Given the description of an element on the screen output the (x, y) to click on. 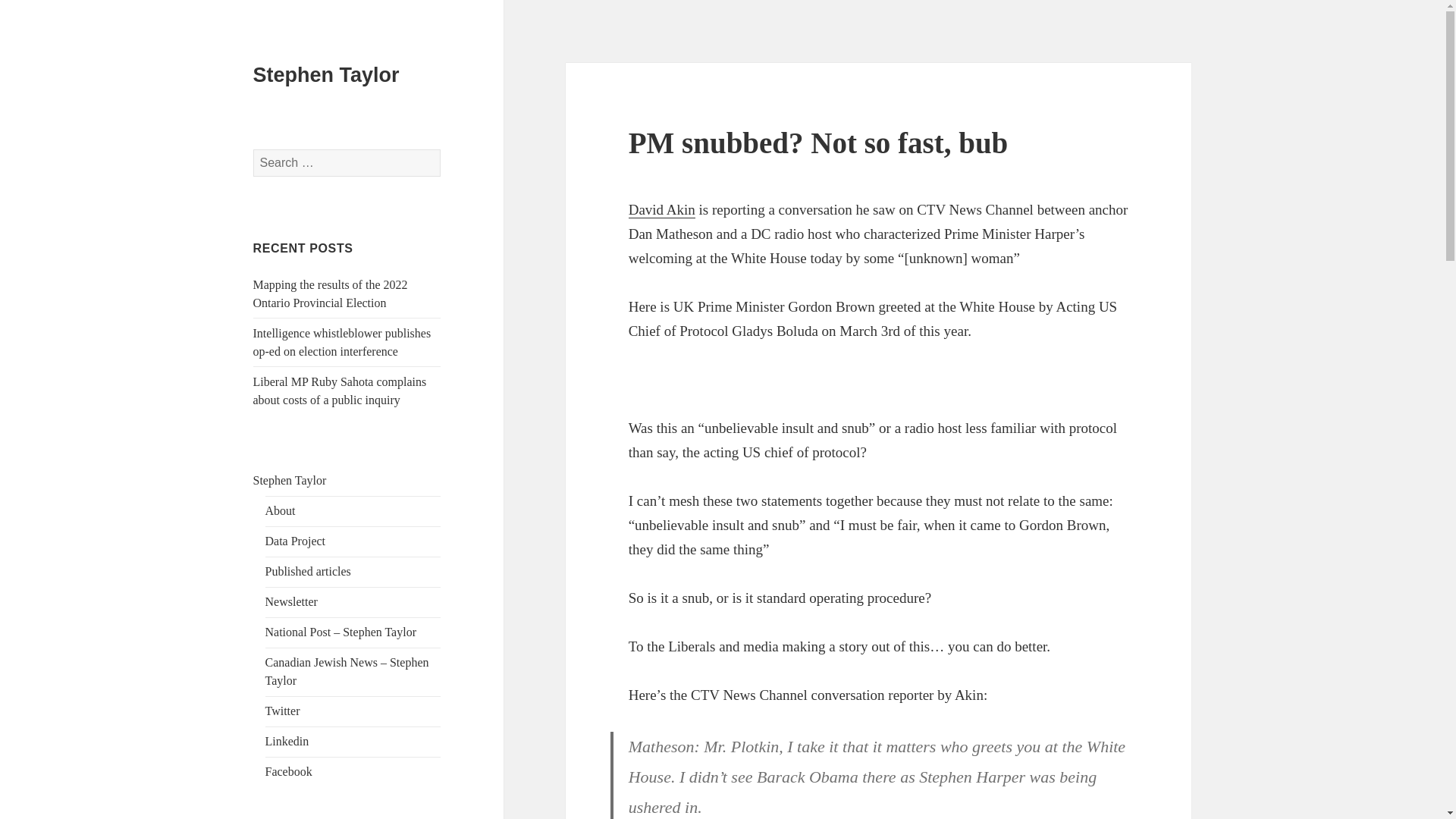
Facebook (288, 771)
Newsletter (290, 601)
Data Project (295, 540)
David Akin (661, 209)
About (279, 510)
Published articles (307, 571)
Twitter (281, 710)
Stephen Taylor (325, 74)
Linkedin (286, 740)
Stephen Taylor (289, 480)
